Given the description of an element on the screen output the (x, y) to click on. 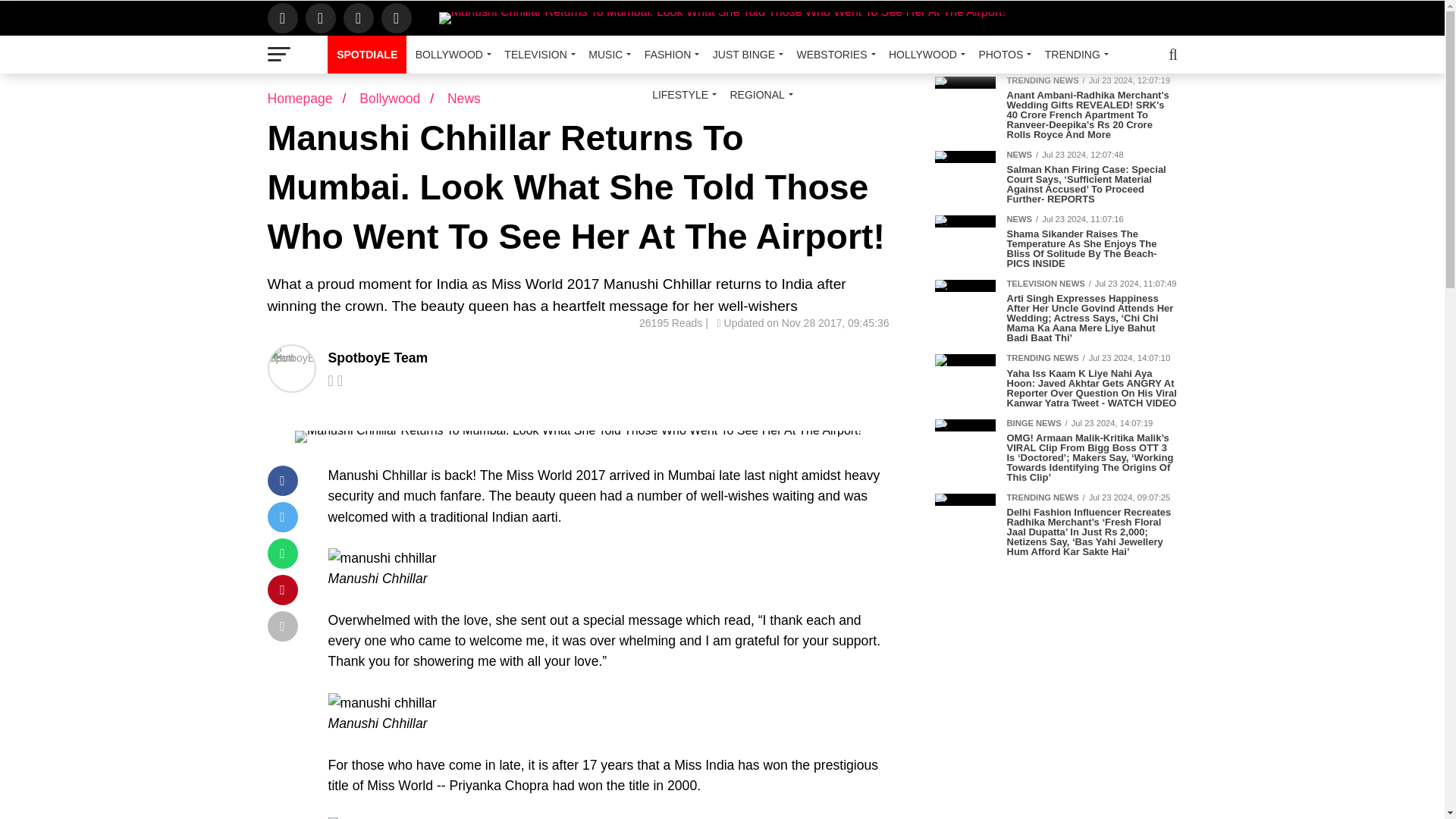
HOLLYWOOD (924, 54)
LIFESTYLE (681, 94)
TELEVISION (537, 54)
SPOTDIALE (366, 54)
WEBSTORIES (833, 54)
JUST BINGE (745, 54)
FASHION (668, 54)
BOLLYWOOD (451, 54)
TRENDING (1074, 54)
MUSIC (606, 54)
PHOTOS (1002, 54)
manushi chhillar (381, 557)
REGIONAL (758, 94)
Posts by  SpotboyE Team  (377, 357)
manushi chhillar (381, 702)
